Given the description of an element on the screen output the (x, y) to click on. 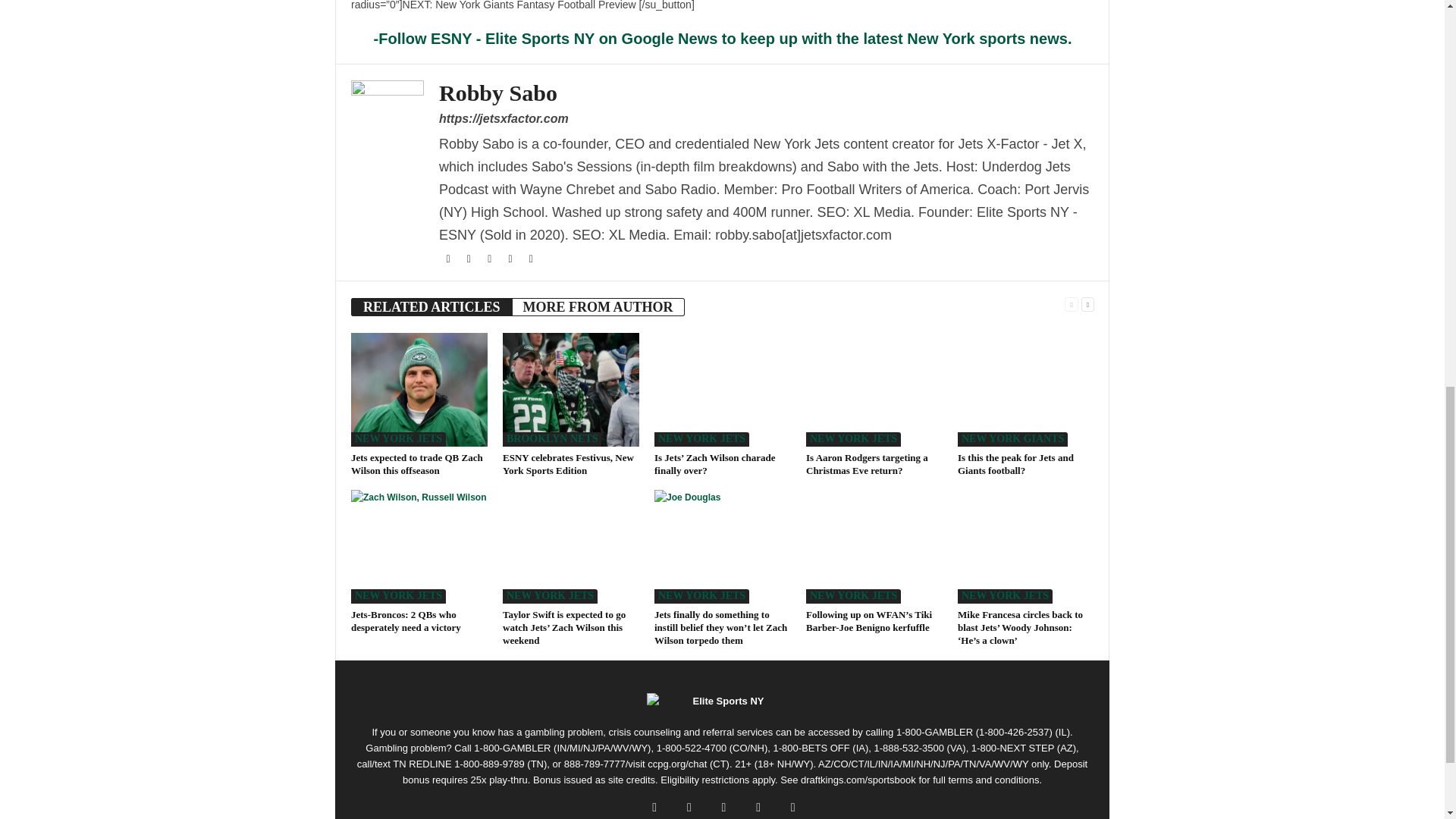
Linkedin (530, 258)
Jets expected to trade QB Zach Wilson this offseason (418, 389)
Twitter (470, 258)
Facebook (449, 258)
Instagram (490, 258)
Youtube (510, 258)
